Given the description of an element on the screen output the (x, y) to click on. 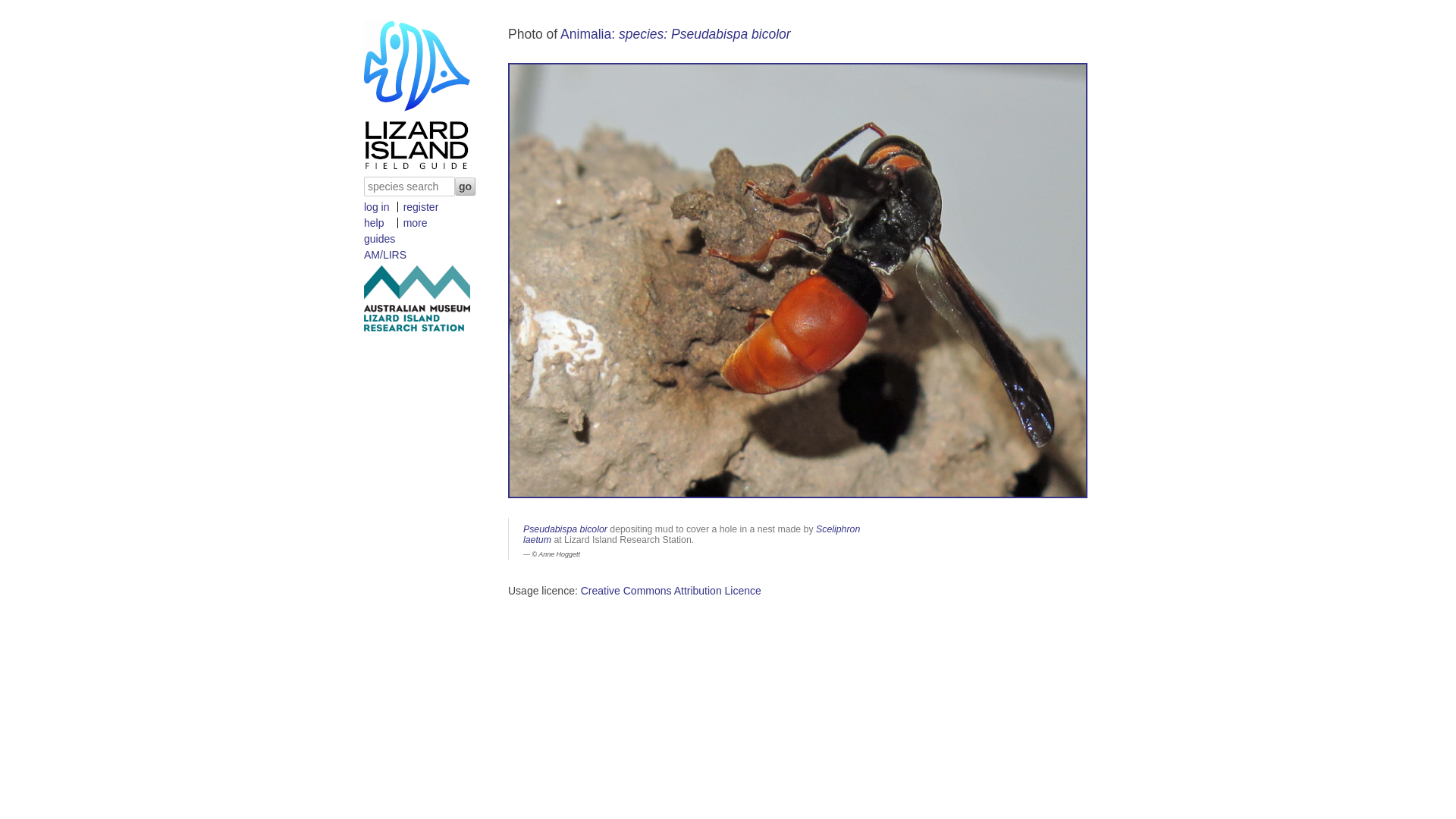
help Element type: text (373, 222)
Sceliphron laetum Element type: text (691, 534)
more Element type: text (415, 222)
AM/LIRS Element type: text (385, 254)
guides Element type: text (379, 238)
register Element type: text (421, 206)
home Element type: hover (417, 166)
Creative Commons Attribution Licence Element type: text (670, 590)
Animalia: species: Pseudabispa bicolor Element type: text (675, 33)
Pseudabispa bicolor Element type: text (565, 529)
site search Element type: hover (419, 186)
log in Element type: text (376, 206)
go Element type: text (465, 186)
